Given the description of an element on the screen output the (x, y) to click on. 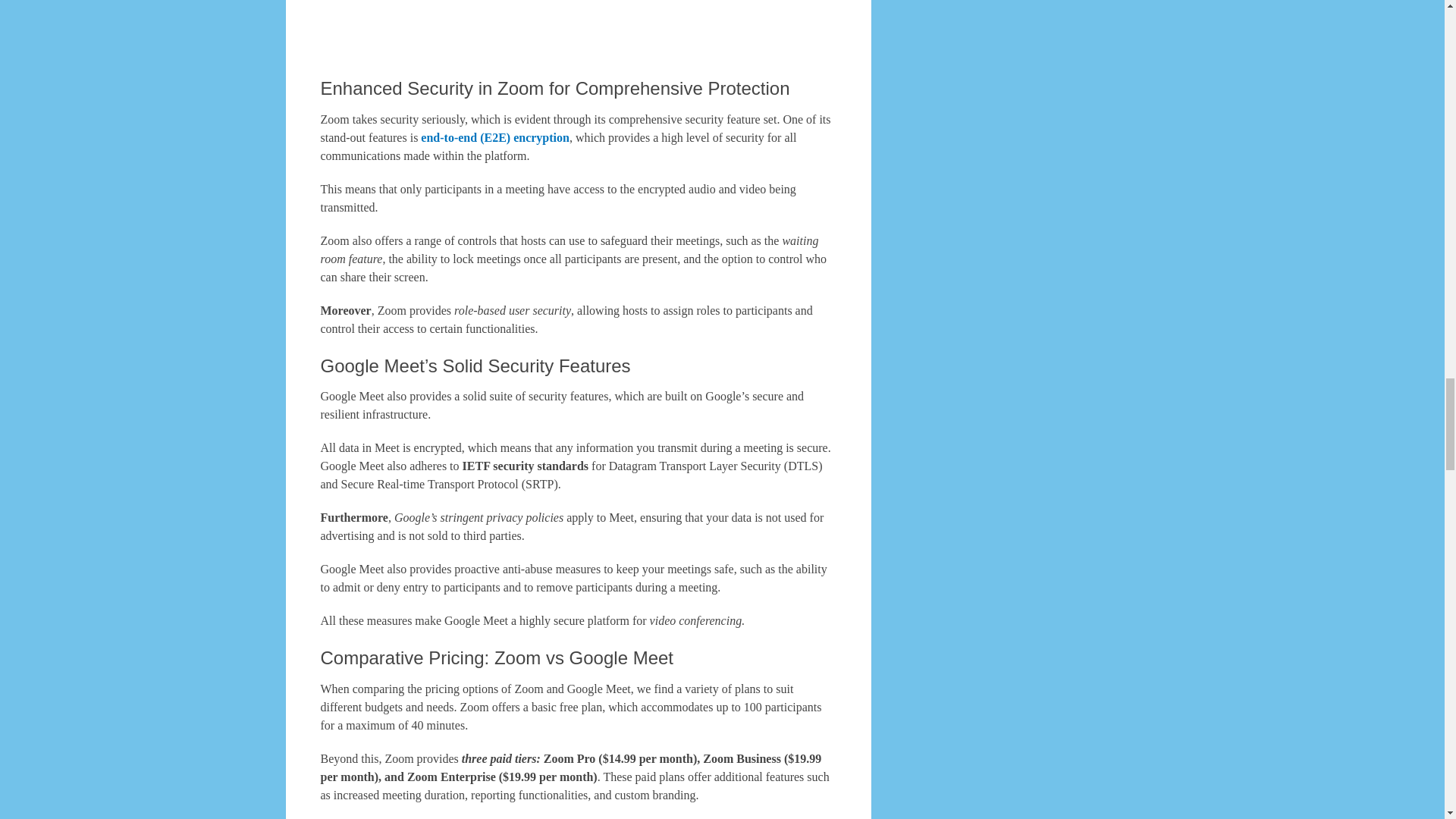
Google Meet Vs Zoom Meetings. Which Is Better? Comparison (577, 26)
